Given the description of an element on the screen output the (x, y) to click on. 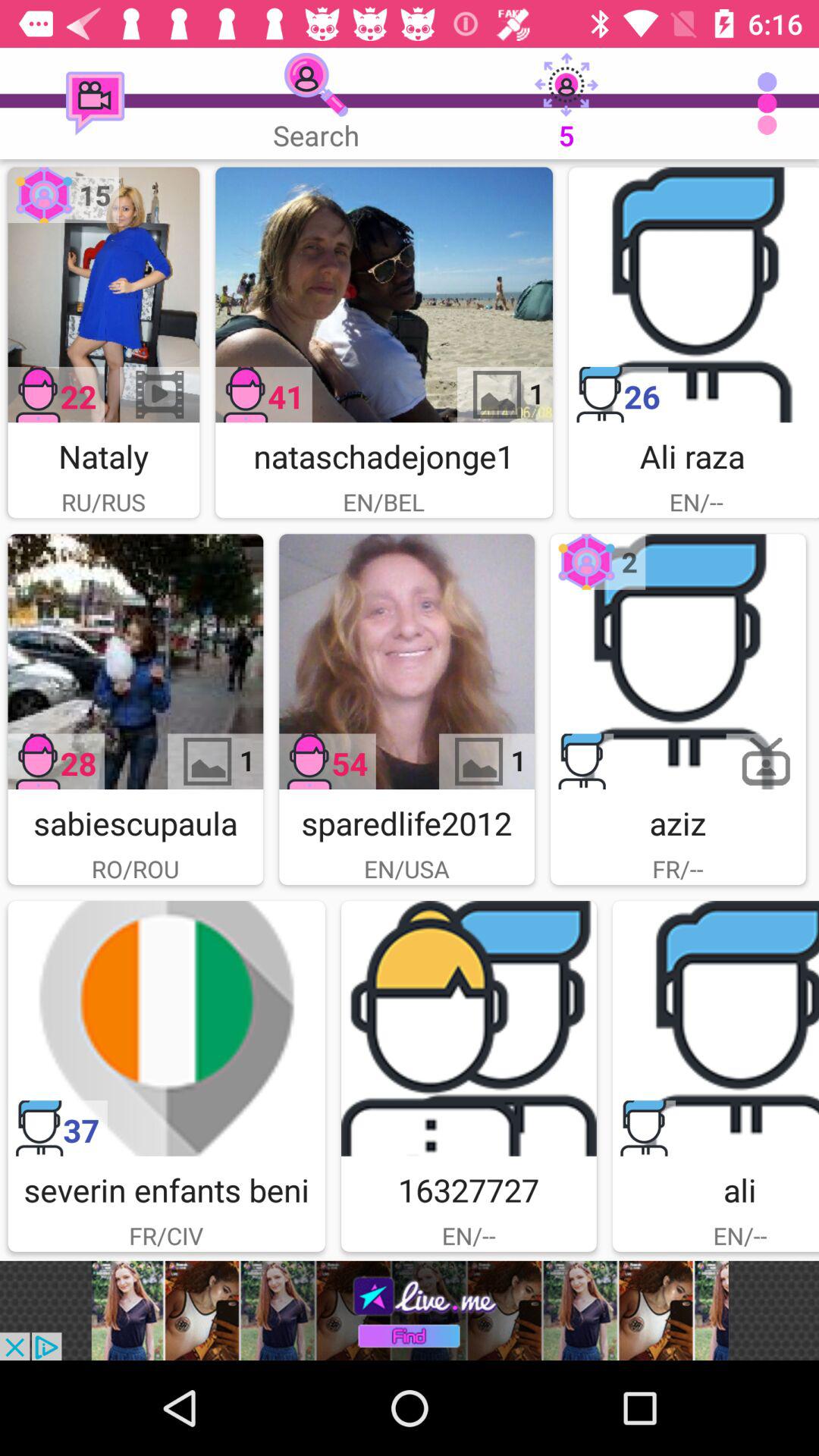
select the person (693, 294)
